Given the description of an element on the screen output the (x, y) to click on. 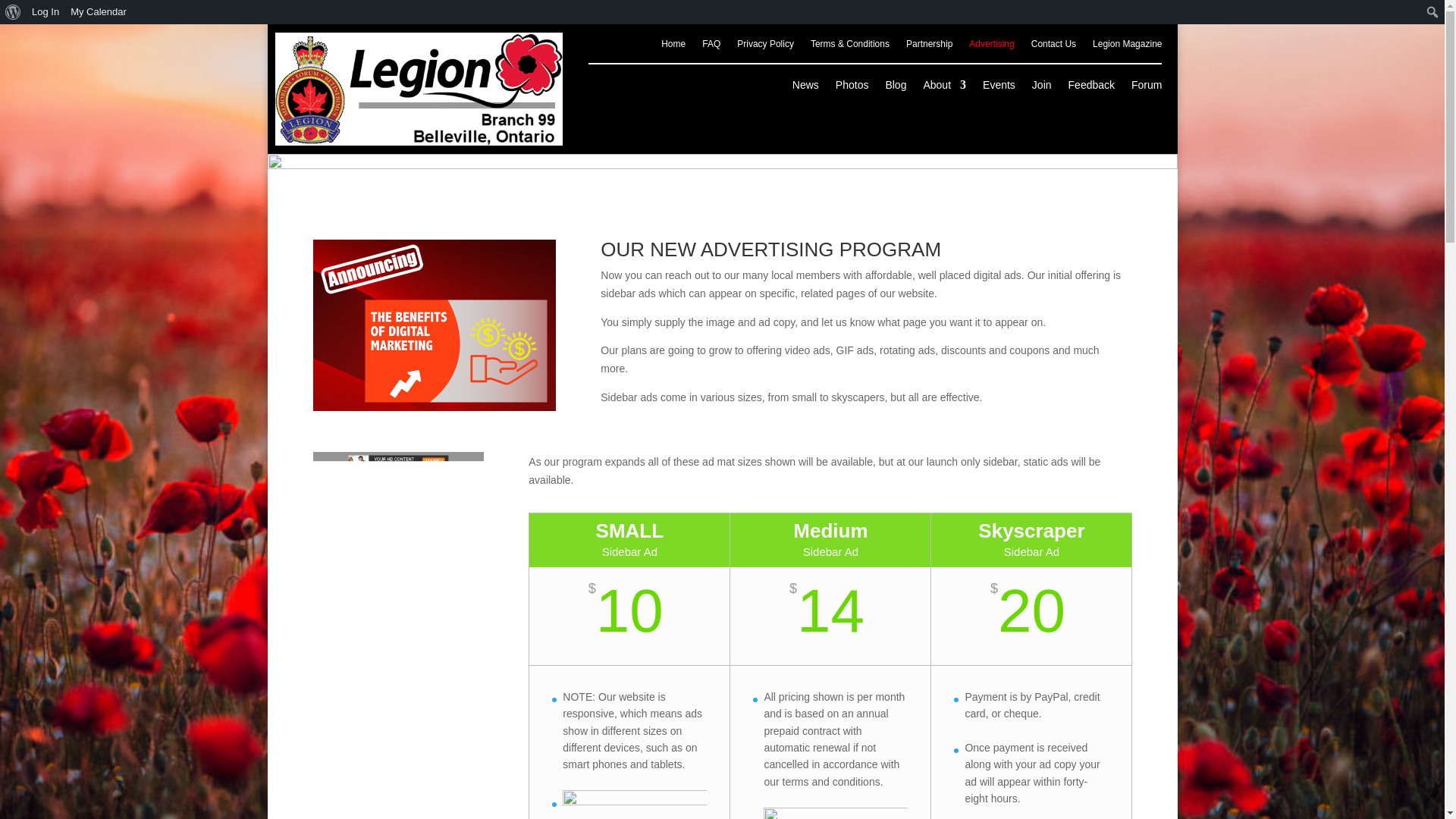
About (944, 87)
Home (673, 46)
Privacy Policy (764, 46)
Forum (1146, 87)
Blog (895, 87)
Photos (852, 87)
Join (1041, 87)
Legion Magazine (1127, 46)
Events (998, 87)
Partnership (928, 46)
Feedback (1091, 87)
Contact Us (1052, 46)
FAQ (710, 46)
News (805, 87)
Advertising (991, 46)
